Given the description of an element on the screen output the (x, y) to click on. 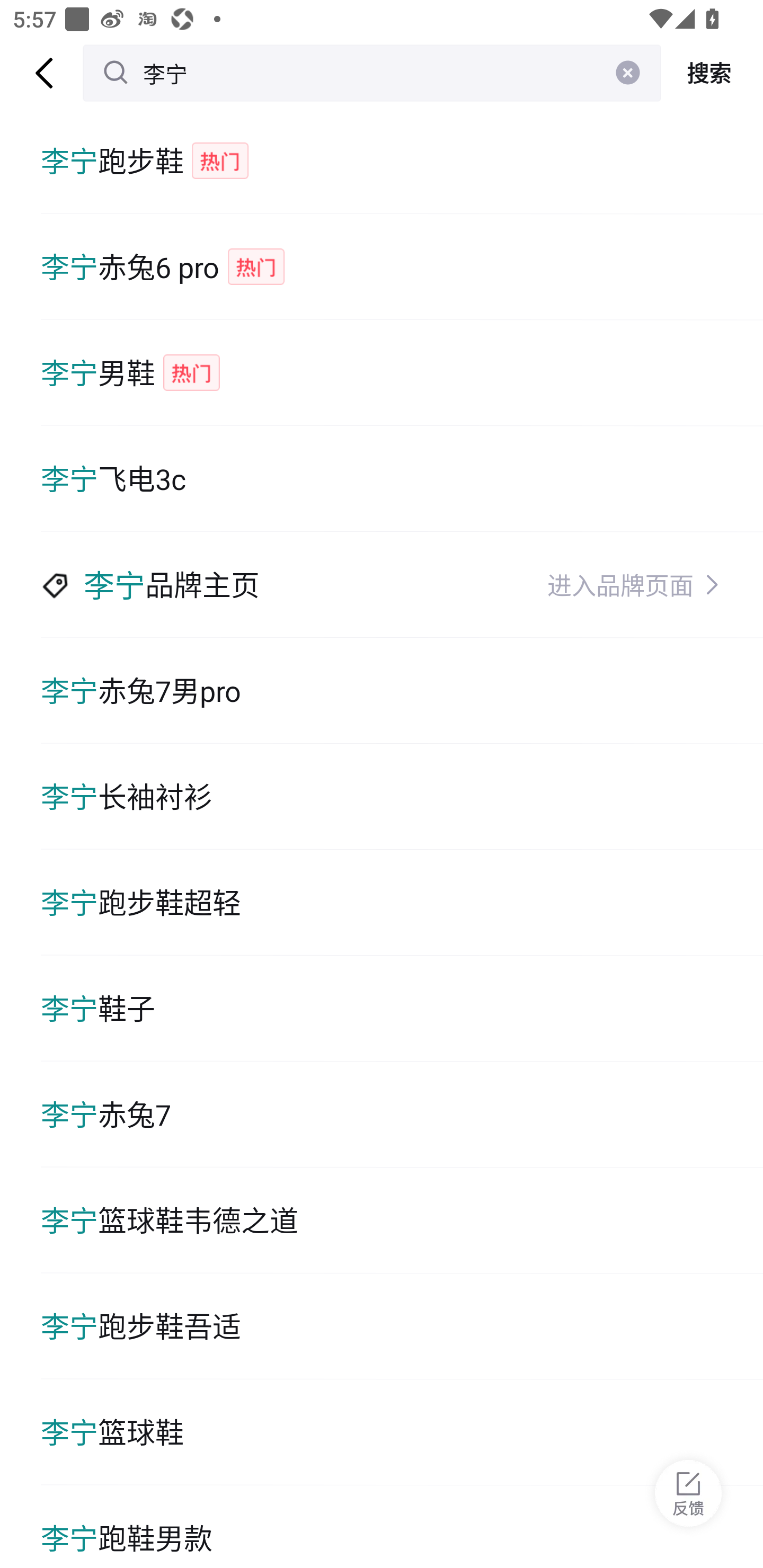
搜索 (712, 72)
李宁 (371, 72)
李宁跑步鞋 (401, 160)
李宁赤兔6 pro (401, 266)
李宁男鞋 (401, 372)
李宁飞电3c (401, 478)
李宁 品牌主页 进入品牌页面  (401, 584)
李宁赤兔7男pro (401, 690)
李宁长袖衬衫 (401, 796)
李宁跑步鞋超轻 (401, 901)
李宁鞋子 (401, 1007)
李宁赤兔7 (401, 1114)
李宁篮球鞋韦德之道 (401, 1220)
李宁跑步鞋吾适 (401, 1326)
李宁篮球鞋 (401, 1431)
李宁跑鞋男款 (401, 1526)
